Given the description of an element on the screen output the (x, y) to click on. 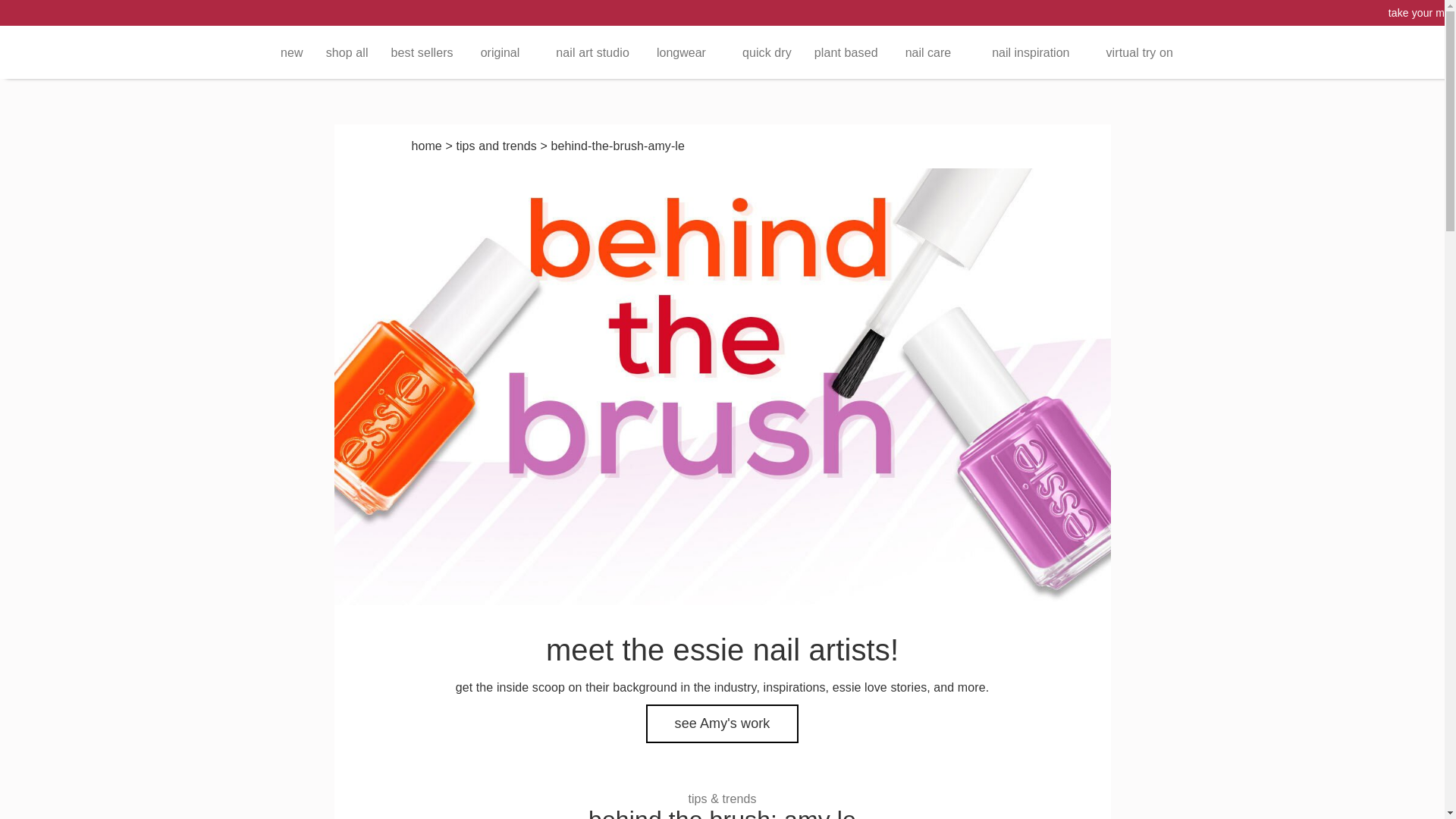
new (291, 52)
tips and trends (495, 145)
quick dry (767, 52)
plant based (845, 52)
longwear (685, 52)
best sellers (421, 52)
nail art studio (592, 52)
original (505, 52)
shop all (347, 52)
Home (425, 145)
